Given the description of an element on the screen output the (x, y) to click on. 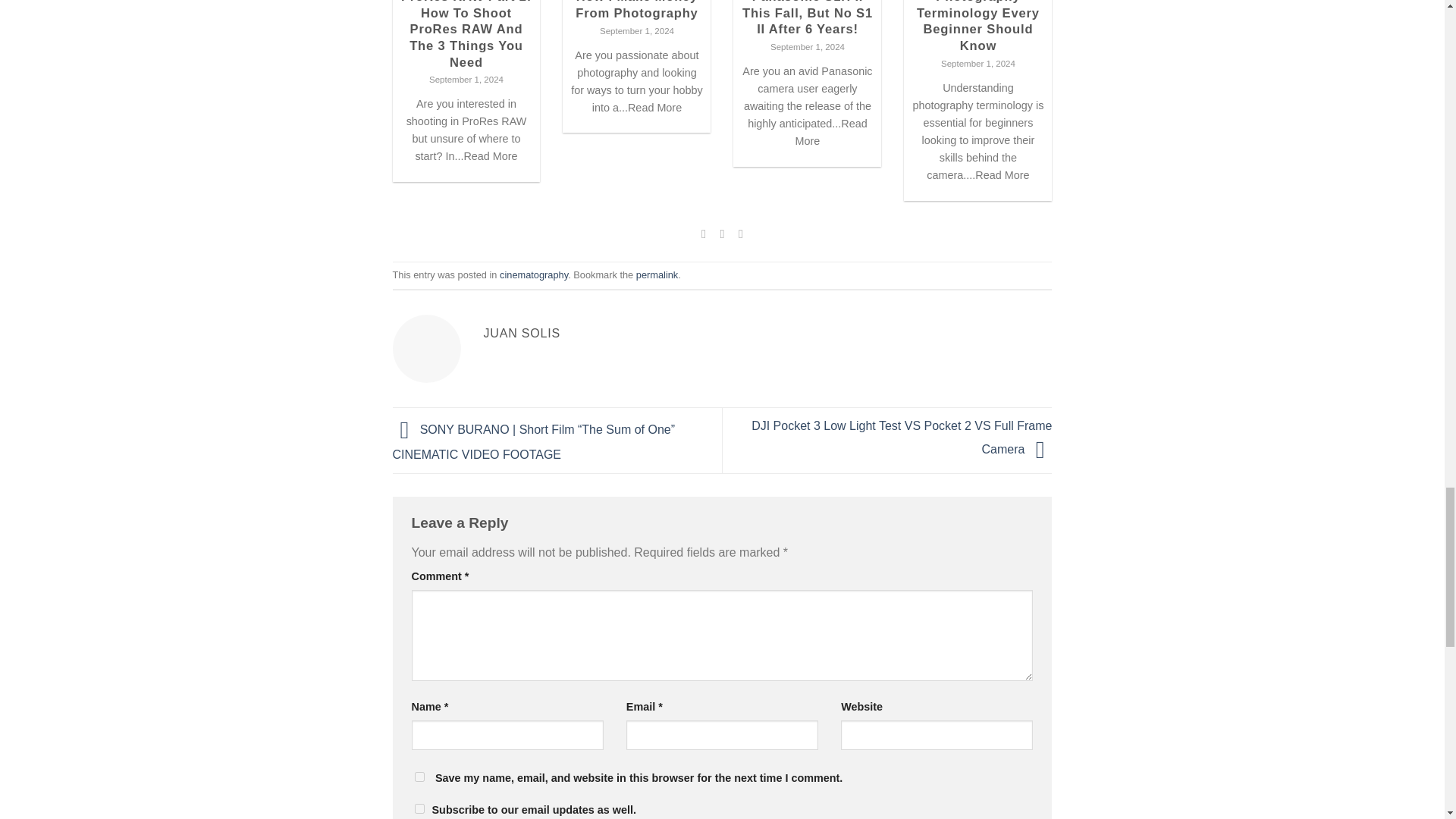
yes (418, 777)
How I Make Money From Photography (636, 10)
Panasonic S1H II This Fall, But No S1 II After 6 Years! (807, 18)
yes (418, 808)
Permalink to How Ryan Booth Filmed The NBA Finals Commercial (657, 274)
